Given the description of an element on the screen output the (x, y) to click on. 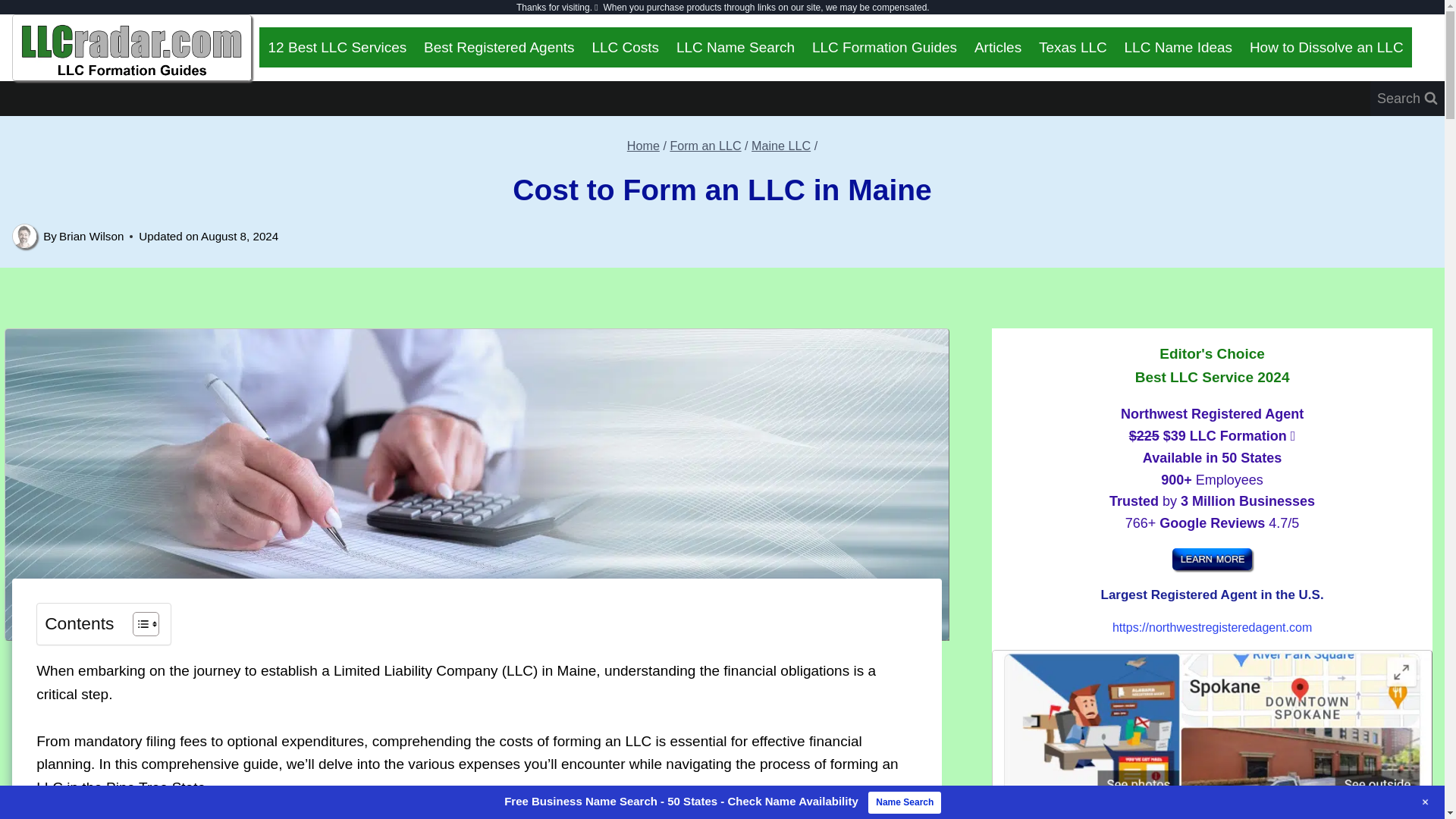
Maine LLC (780, 145)
How to Dissolve an LLC (1326, 47)
LLC Costs (624, 47)
Form an LLC (705, 145)
Brian Wilson (91, 236)
Home (643, 145)
LLC Name Search (734, 47)
12 Best LLC Services (336, 47)
Texas LLC (1073, 47)
LLC Name Ideas (1177, 47)
